Given the description of an element on the screen output the (x, y) to click on. 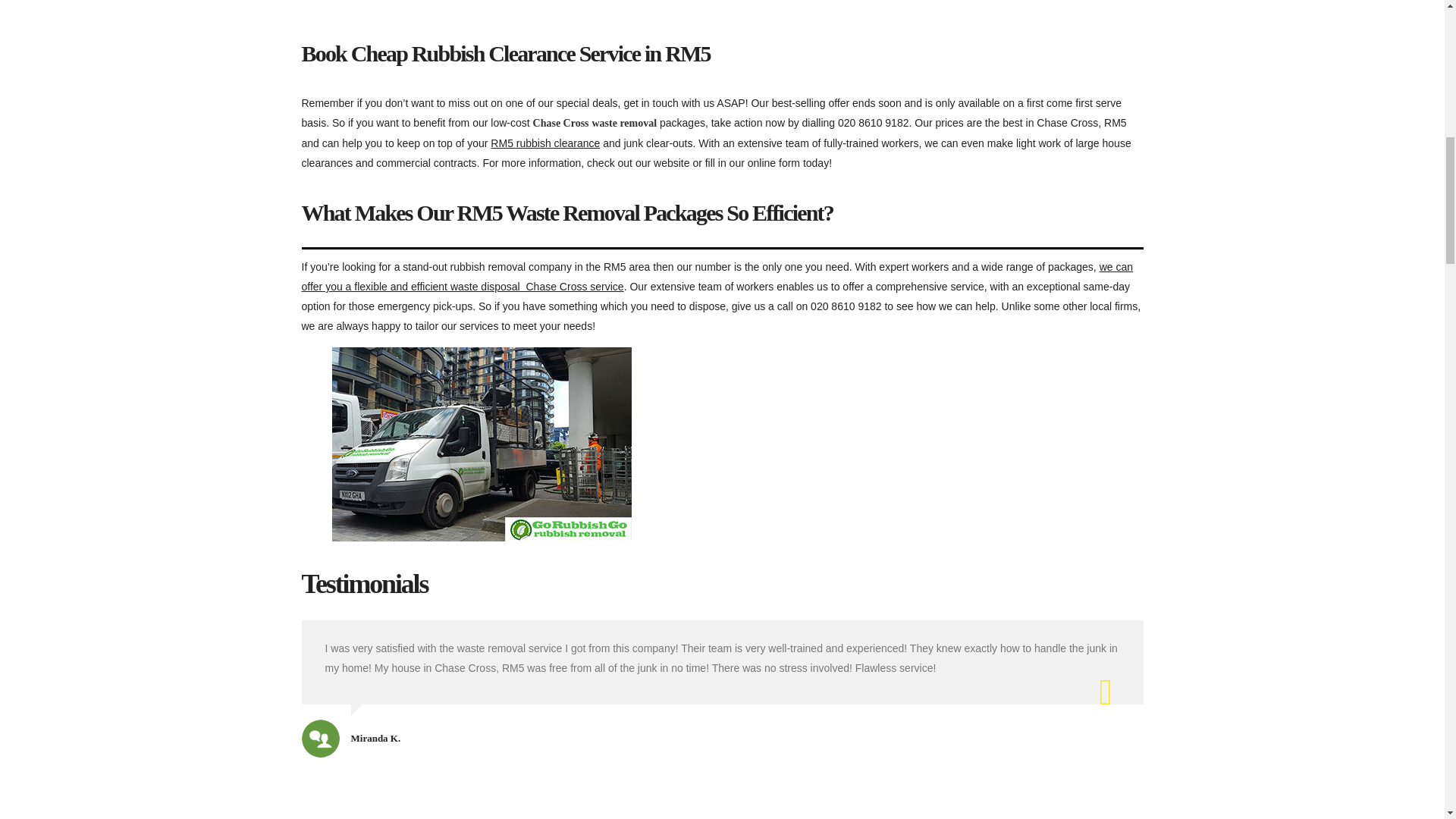
chase-cross-rubbish-clearance (481, 444)
